Given the description of an element on the screen output the (x, y) to click on. 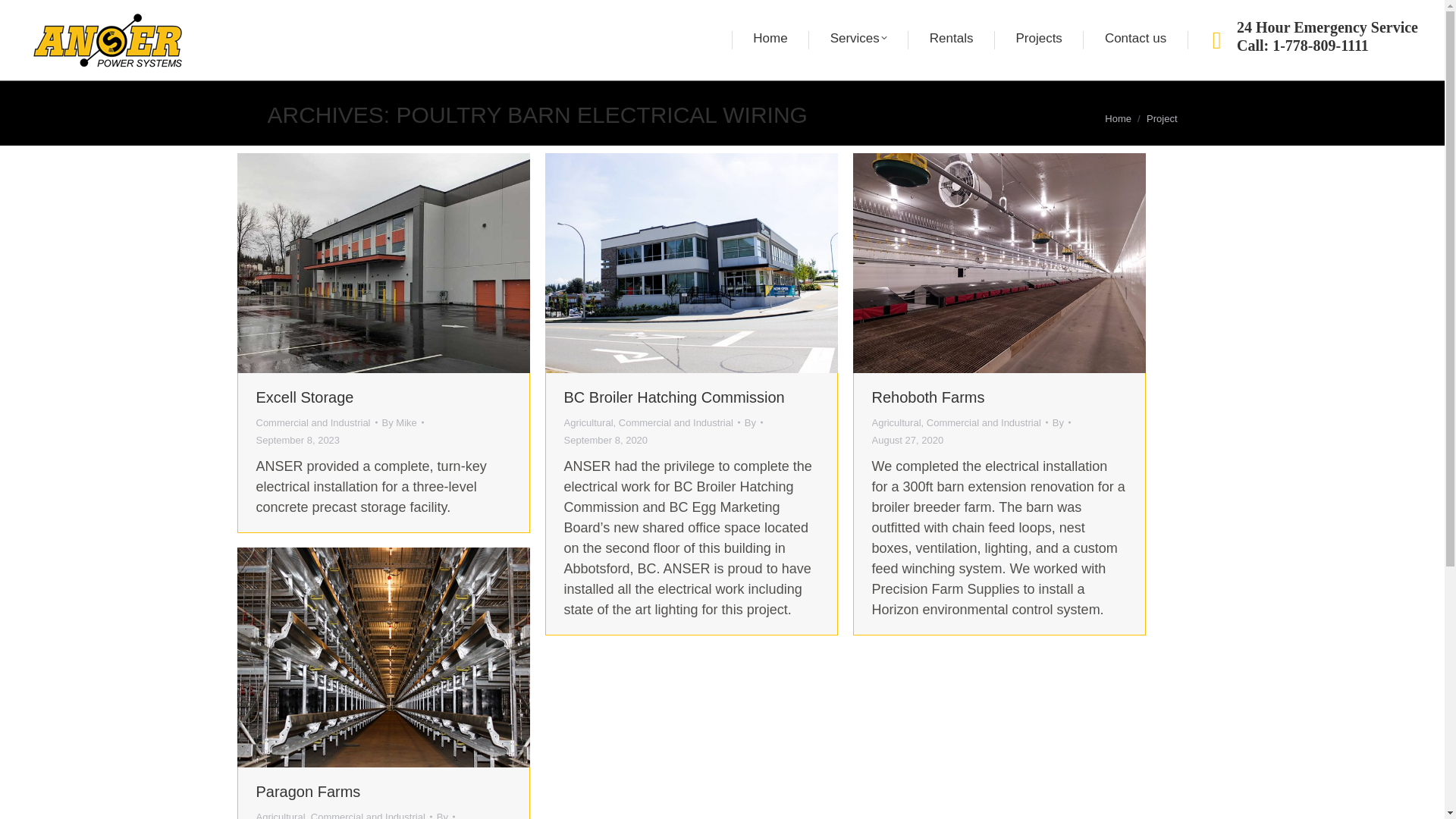
Home (1118, 117)
Projects (1038, 39)
Services (858, 39)
Contact us (1134, 39)
Home (769, 39)
Rentals (951, 39)
